Given the description of an element on the screen output the (x, y) to click on. 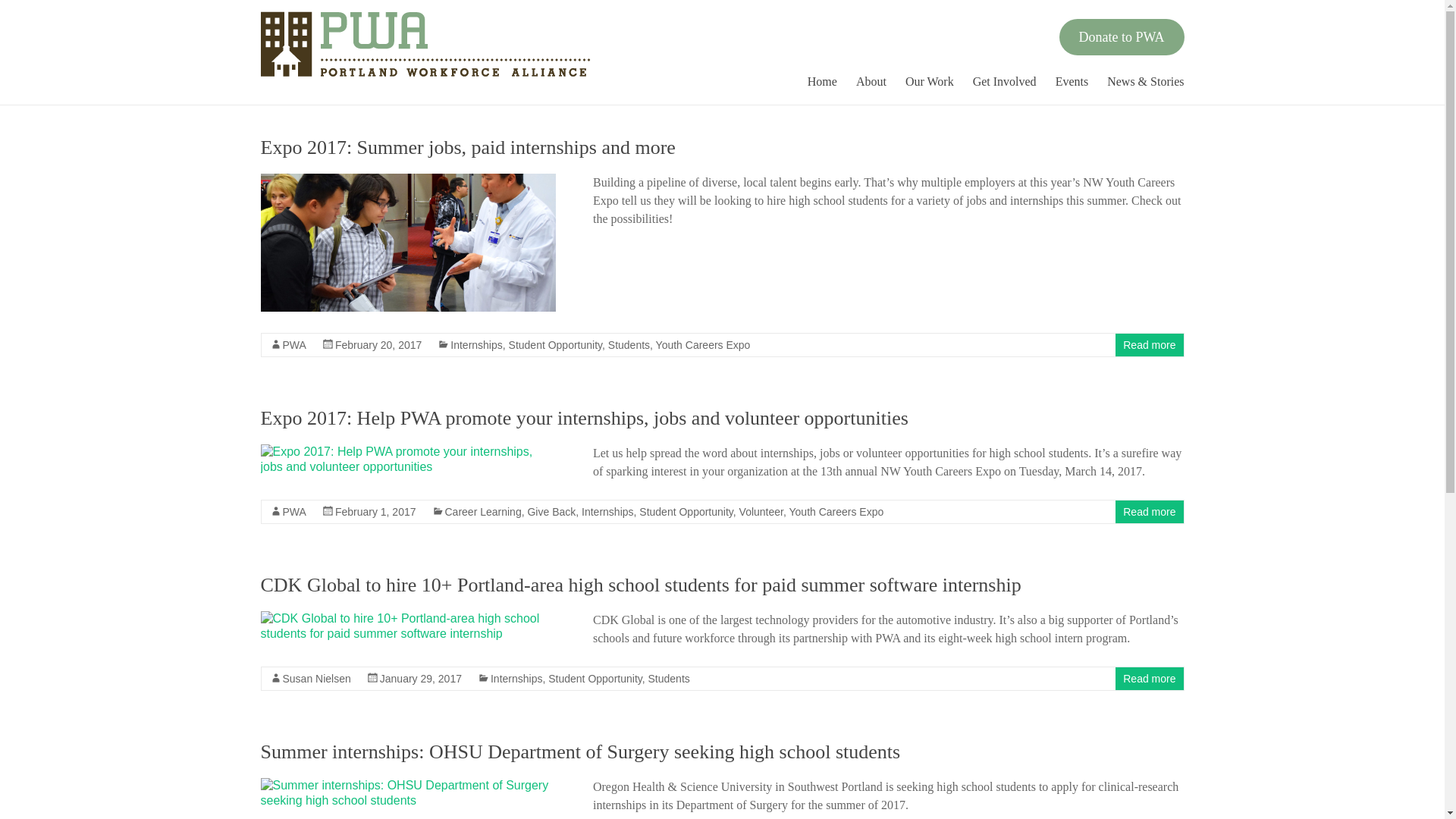
Expo 2017: Summer jobs, paid internships and more (408, 242)
Portland Workforce Alliance (317, 60)
2:31 pm (375, 511)
Portland Workforce Alliance (317, 60)
5:12 pm (378, 345)
Donate to PWA (1122, 36)
Expo 2017: Summer jobs, paid internships and more (467, 147)
5:08 pm (420, 678)
